Given the description of an element on the screen output the (x, y) to click on. 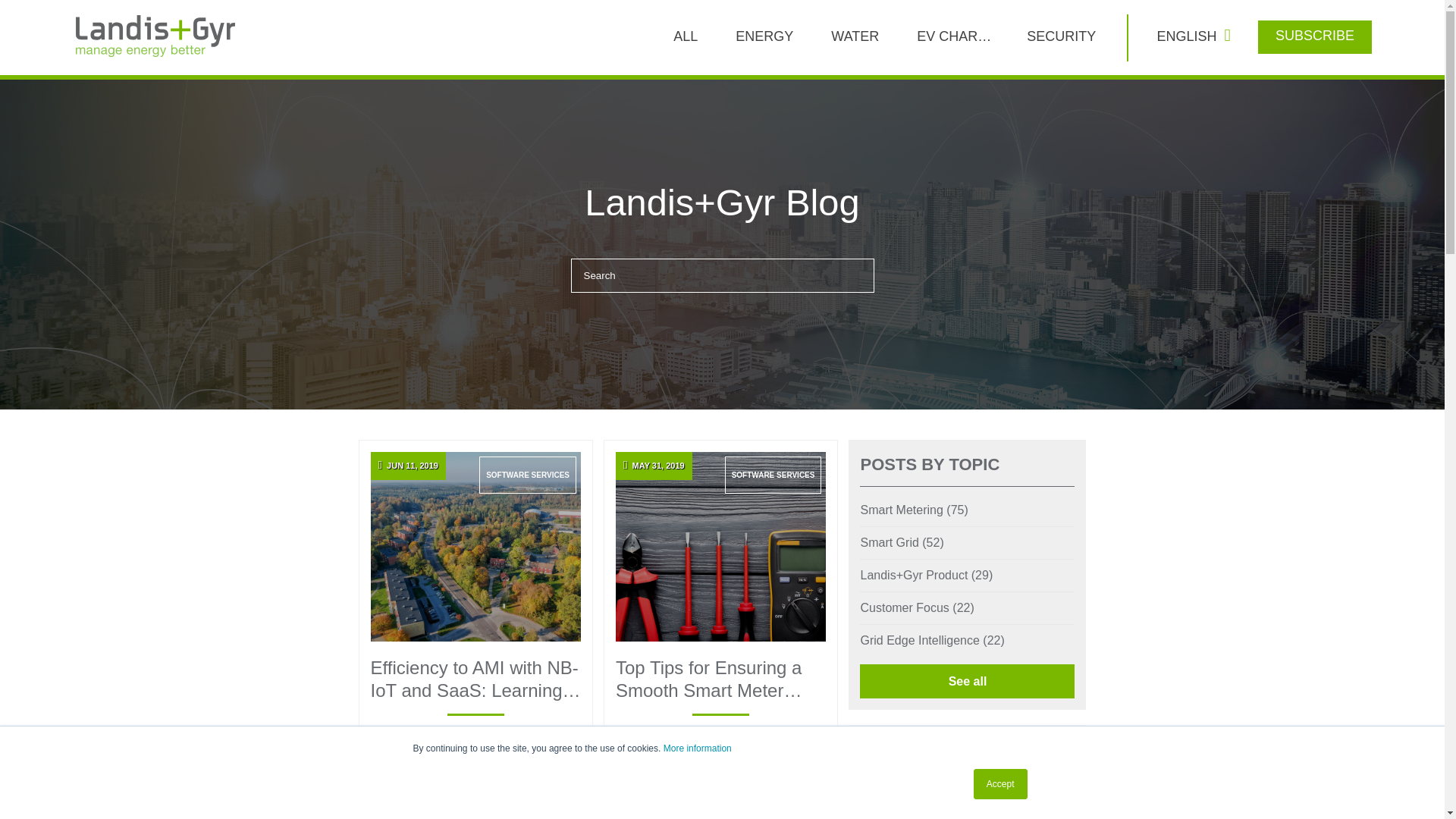
Top Tips for Ensuring a Smooth Smart Meter Rollout (720, 678)
ENGLISH (1190, 36)
 JUN 11, 2019 (474, 546)
SECURITY (1060, 35)
EV CHARGING (954, 36)
SUBSCRIBE (1314, 35)
WATER (854, 36)
 MAY 31, 2019 (720, 546)
SOFTWARE SERVICES (773, 474)
SOFTWARE SERVICES (527, 474)
Accept (1000, 784)
ALL (685, 36)
ENERGY (764, 36)
More information (697, 747)
